Given the description of an element on the screen output the (x, y) to click on. 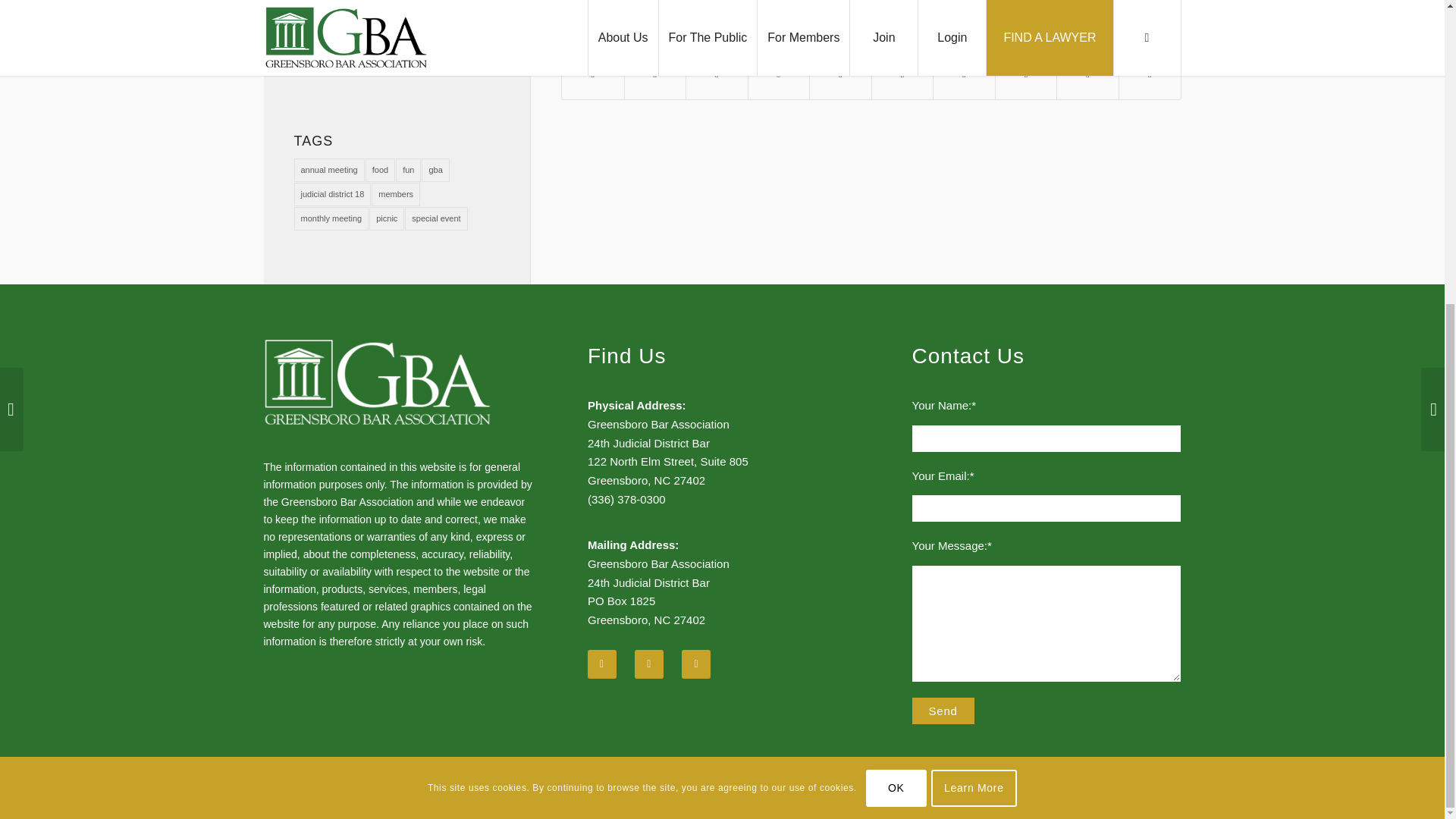
X (1124, 796)
GBA-Logo-White (377, 382)
Facebook (1146, 796)
Send (943, 710)
